Given the description of an element on the screen output the (x, y) to click on. 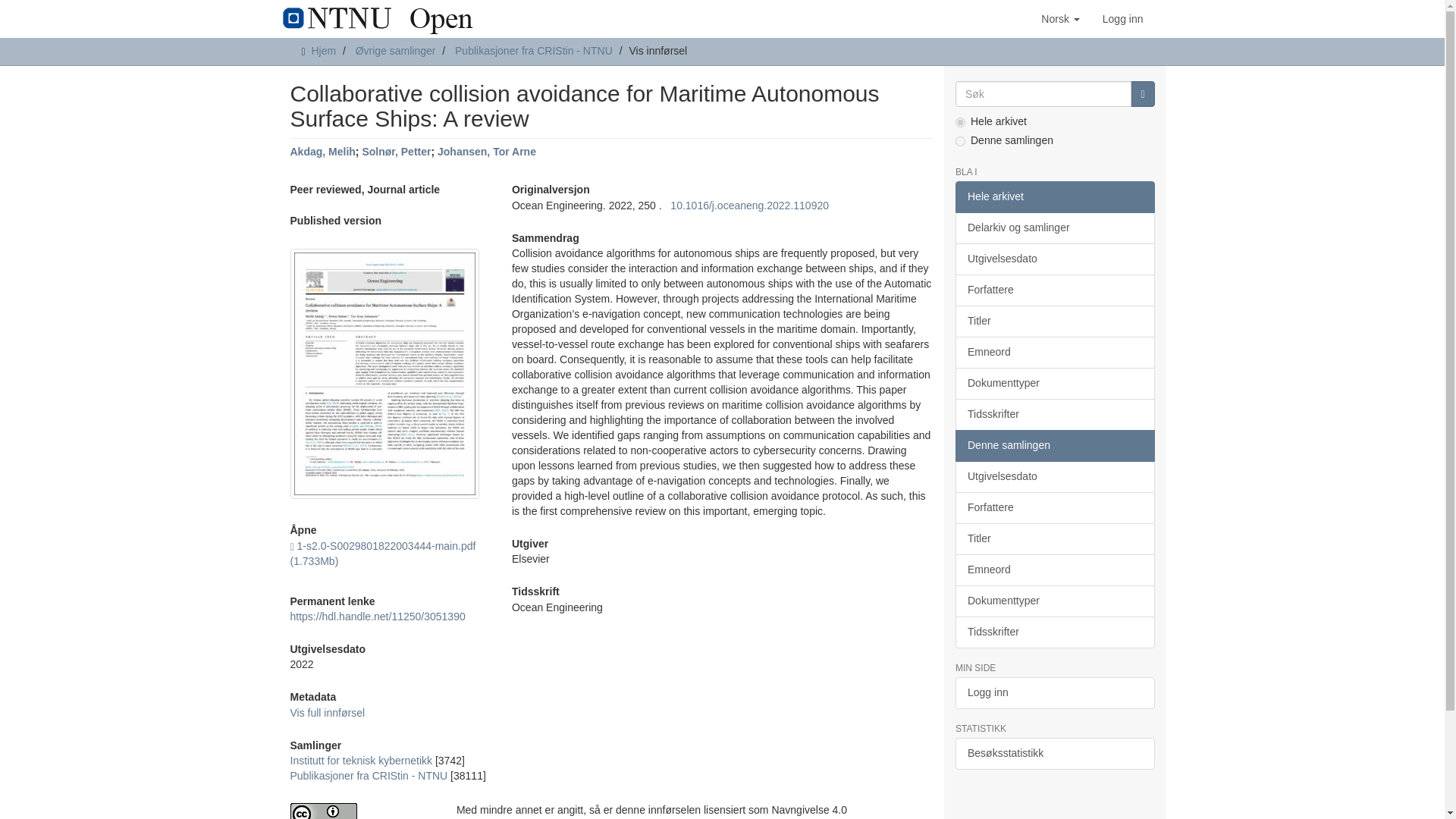
Hele arkivet (1054, 196)
Norsk  (1059, 18)
Akdag, Melih (322, 151)
Johansen, Tor Arne (486, 151)
Publikasjoner fra CRIStin - NTNU (533, 50)
Hjem (323, 50)
Delarkiv og samlinger (1054, 228)
Publikasjoner fra CRIStin - NTNU (367, 775)
Navngivelse 4.0 Internasjonal (360, 811)
Logg inn (1122, 18)
Utgivelsesdato (1054, 259)
Institutt for teknisk kybernetikk (360, 760)
